Given the description of an element on the screen output the (x, y) to click on. 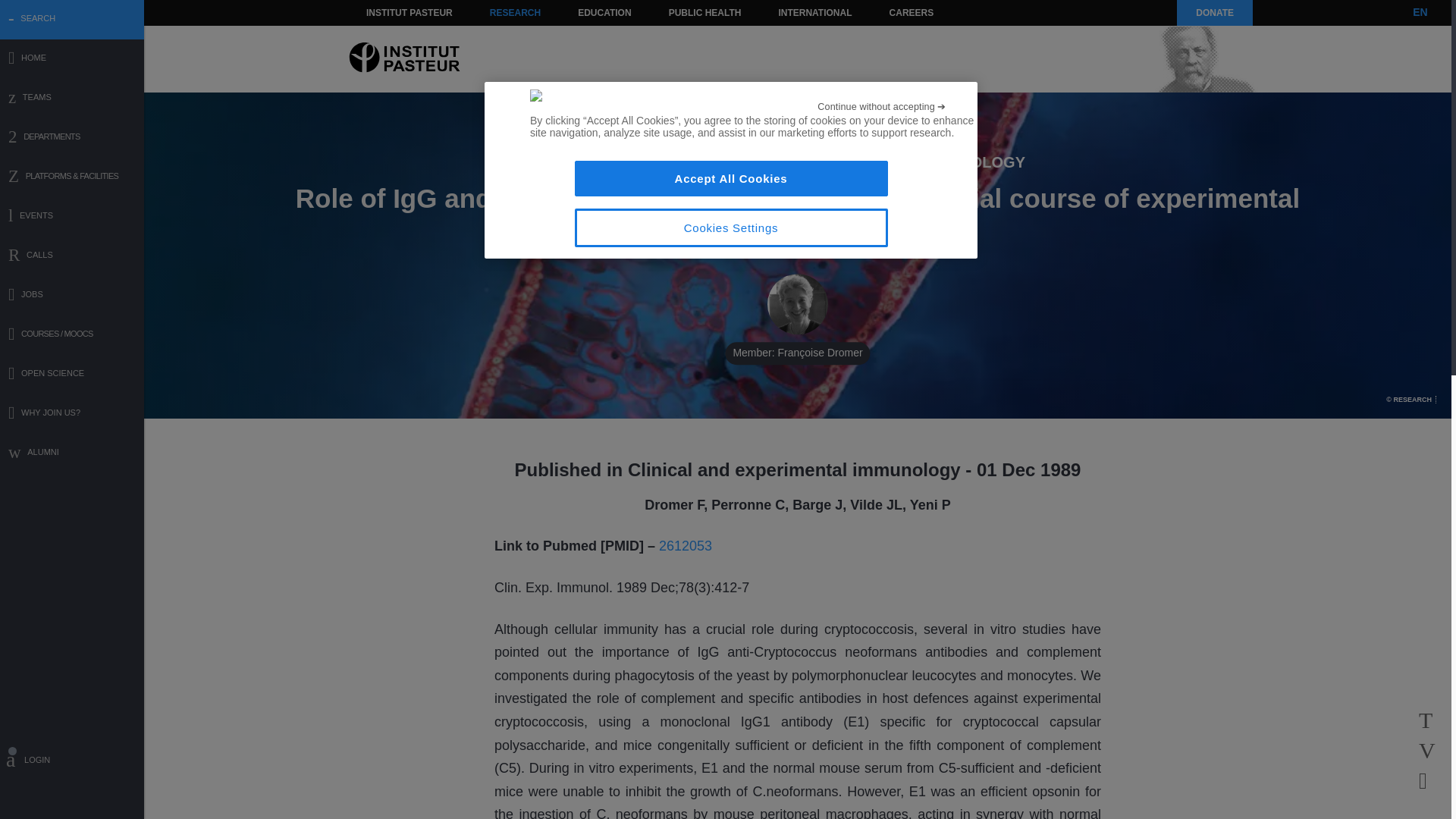
LOGIN (72, 762)
EVENTS (72, 217)
HOME (72, 59)
DEPARTMENTS (72, 137)
TEAMS (72, 98)
Skip to content (387, 11)
CAREERS (911, 12)
RESEARCH (515, 12)
PUBLIC HEALTH (705, 12)
Skip to content (387, 11)
